Given the description of an element on the screen output the (x, y) to click on. 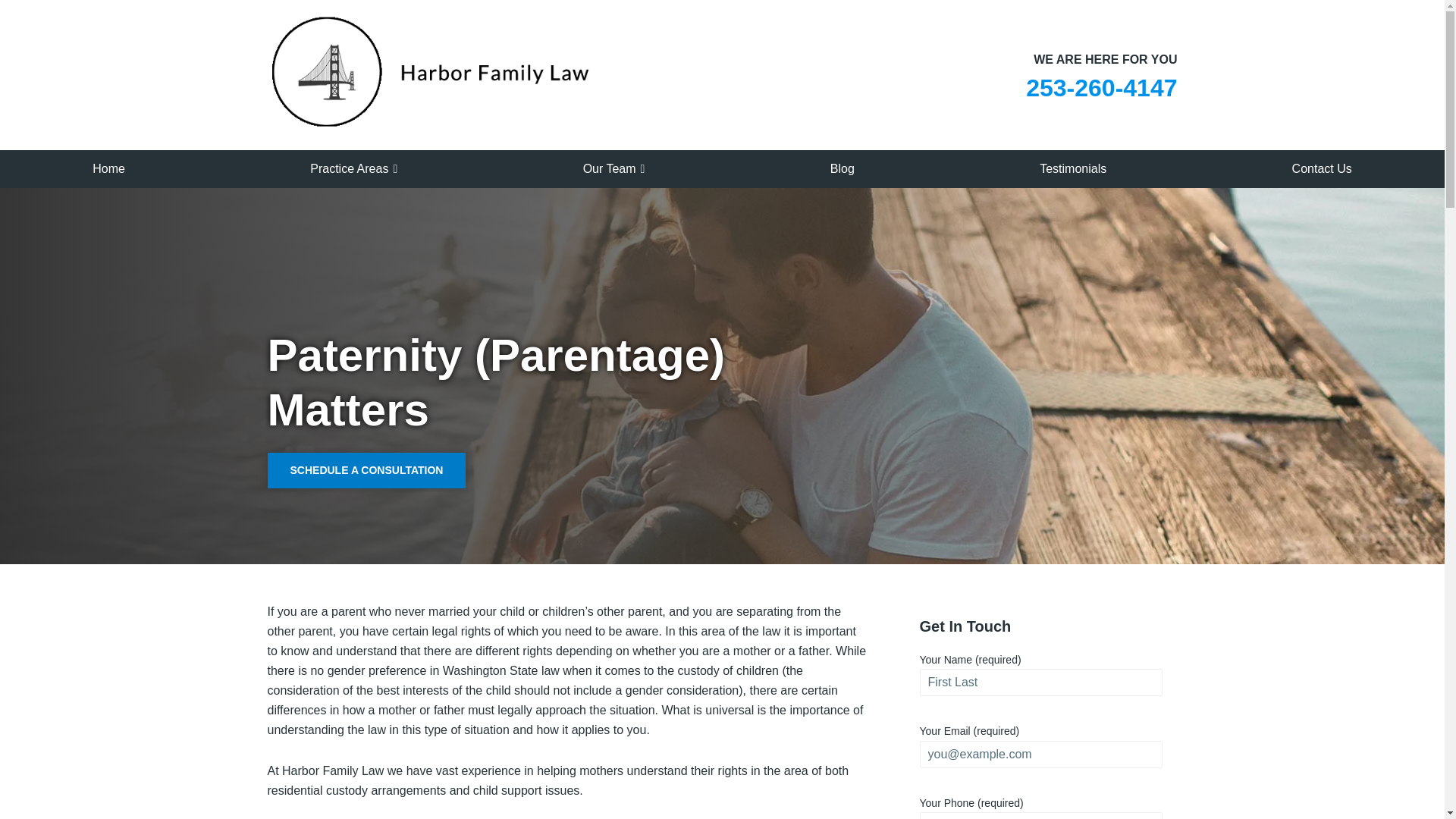
Practice Areas (353, 168)
Testimonials (1073, 168)
Contact Us (1322, 168)
SCHEDULE A CONSULTATION (365, 470)
Blog (842, 168)
Home (108, 168)
Our Team (613, 168)
253-260-4147 (1101, 87)
